Given the description of an element on the screen output the (x, y) to click on. 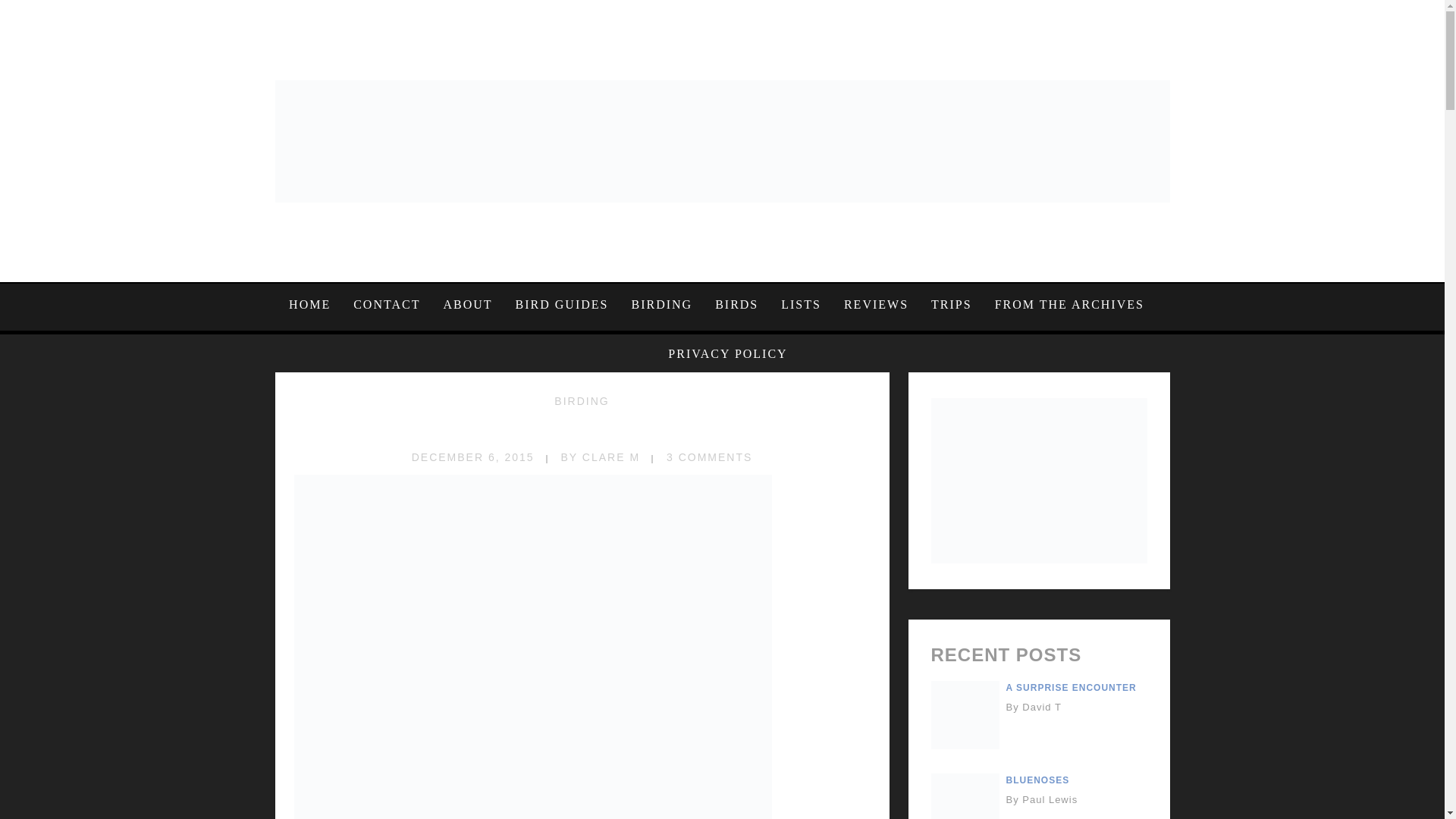
3 COMMENTS (709, 457)
Australian Painted Snipe (582, 429)
HOME (315, 304)
FROM THE ARCHIVES (1070, 304)
DECEMBER 6, 2015 (473, 457)
TRIPS (952, 304)
Permanent (582, 429)
CONTACT (386, 304)
BIRDING (581, 400)
BIRD GUIDES (561, 304)
